Given the description of an element on the screen output the (x, y) to click on. 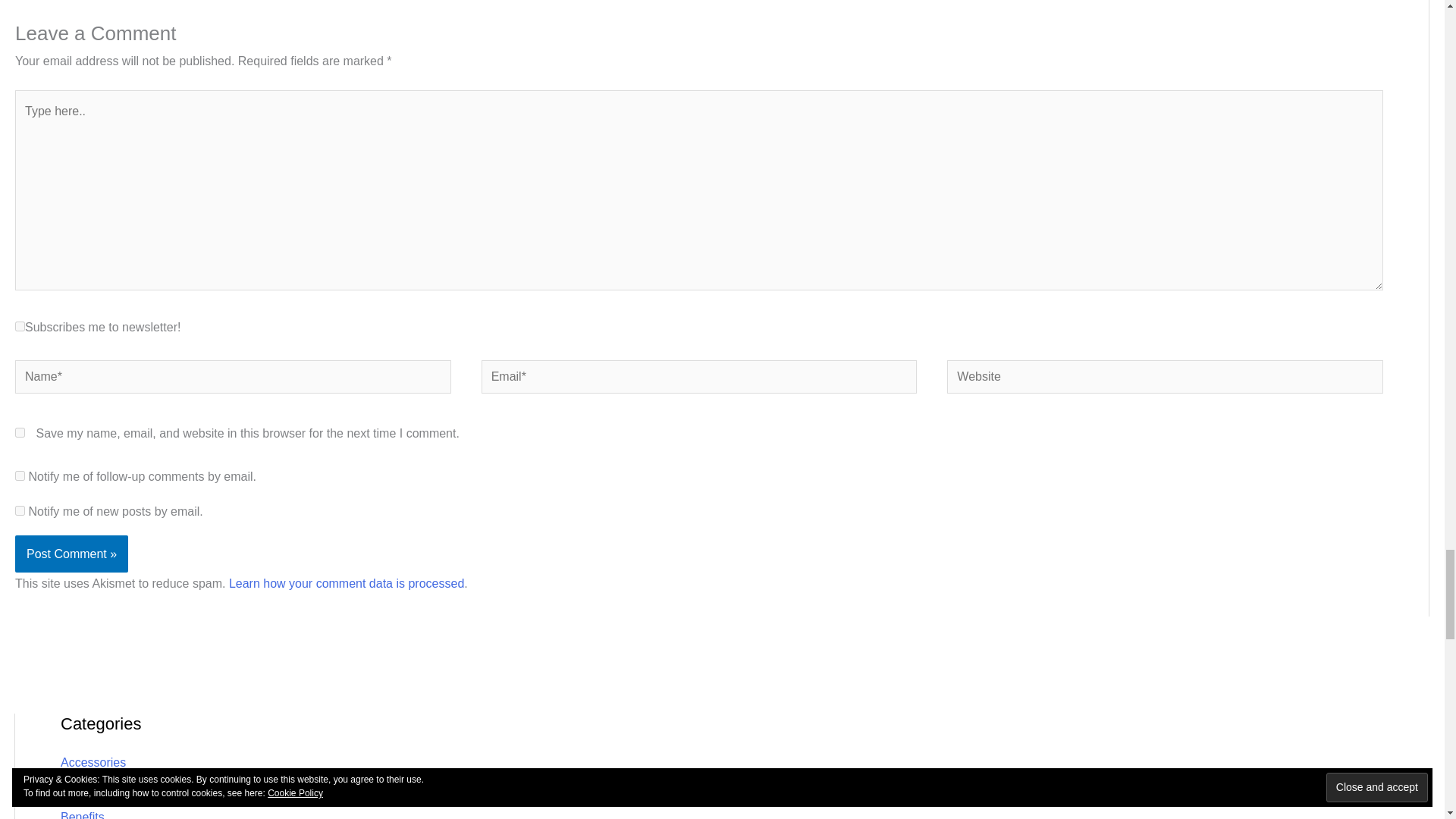
subscribe (19, 475)
yes (19, 432)
1 (19, 326)
subscribe (19, 510)
